Given the description of an element on the screen output the (x, y) to click on. 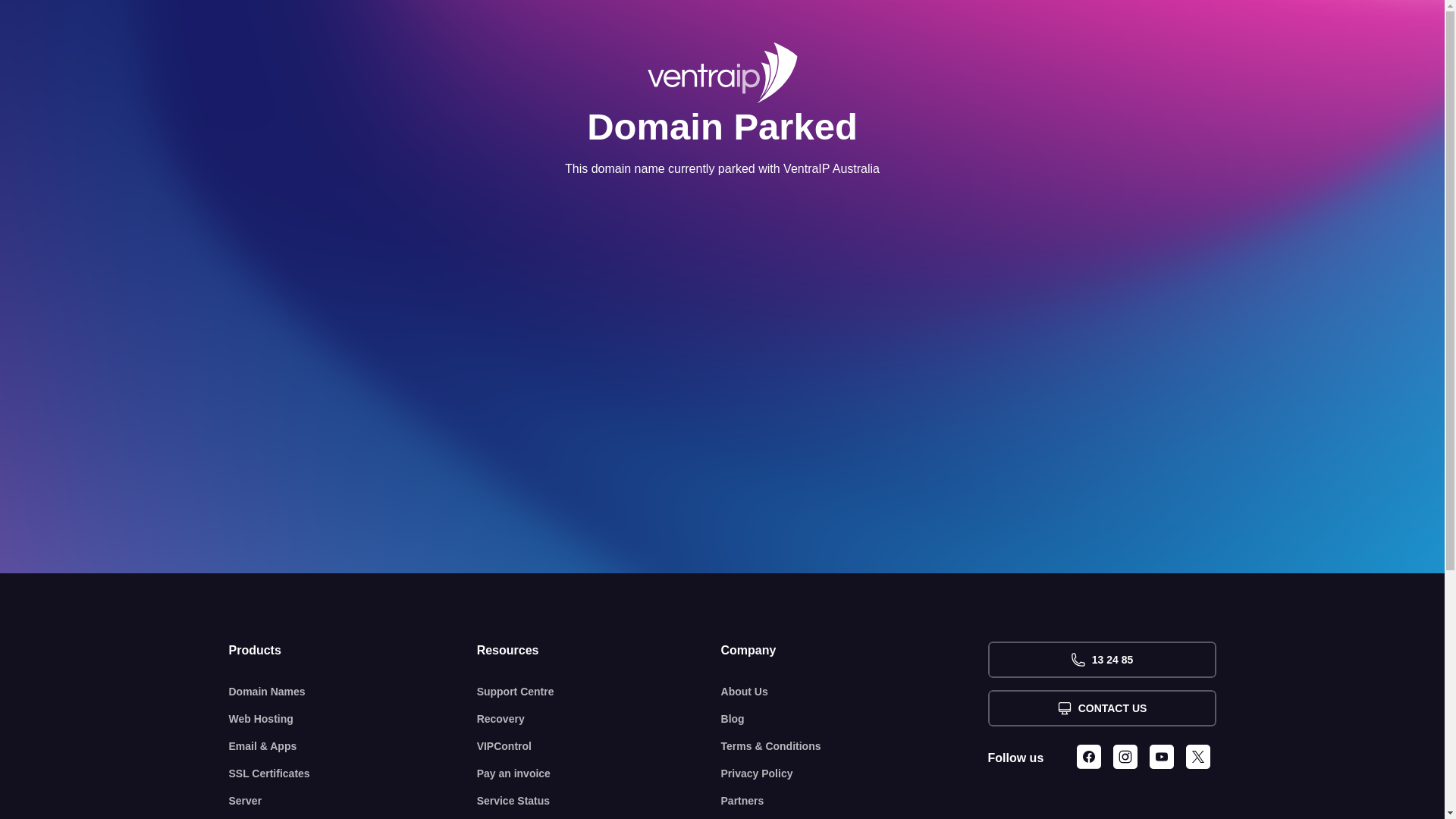
Server Element type: text (352, 800)
Blog Element type: text (854, 718)
Domain Names Element type: text (352, 691)
Web Hosting Element type: text (352, 718)
VIPControl Element type: text (598, 745)
Terms & Conditions Element type: text (854, 745)
Service Status Element type: text (598, 800)
About Us Element type: text (854, 691)
Support Centre Element type: text (598, 691)
13 24 85 Element type: text (1101, 659)
Recovery Element type: text (598, 718)
Pay an invoice Element type: text (598, 773)
SSL Certificates Element type: text (352, 773)
Privacy Policy Element type: text (854, 773)
Email & Apps Element type: text (352, 745)
CONTACT US Element type: text (1101, 708)
Partners Element type: text (854, 800)
